Given the description of an element on the screen output the (x, y) to click on. 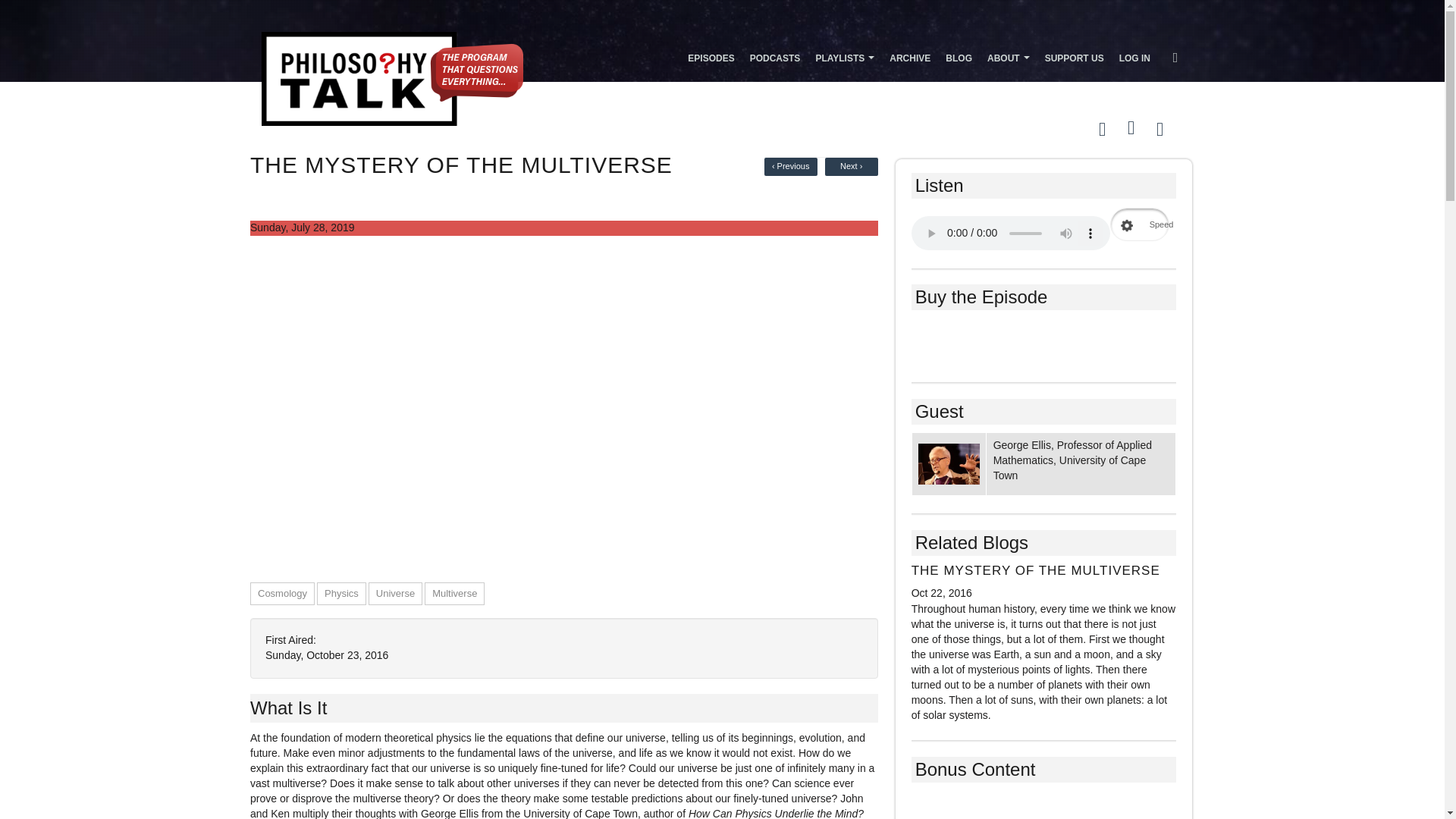
BLOG (958, 57)
Facebook (1128, 128)
Physics (341, 593)
Multiverse (454, 593)
EPISODES (710, 57)
Universe (394, 593)
ARCHIVE (909, 57)
SUPPORT US (1074, 57)
Skip to main content (690, 1)
LOG IN (1134, 57)
